Given the description of an element on the screen output the (x, y) to click on. 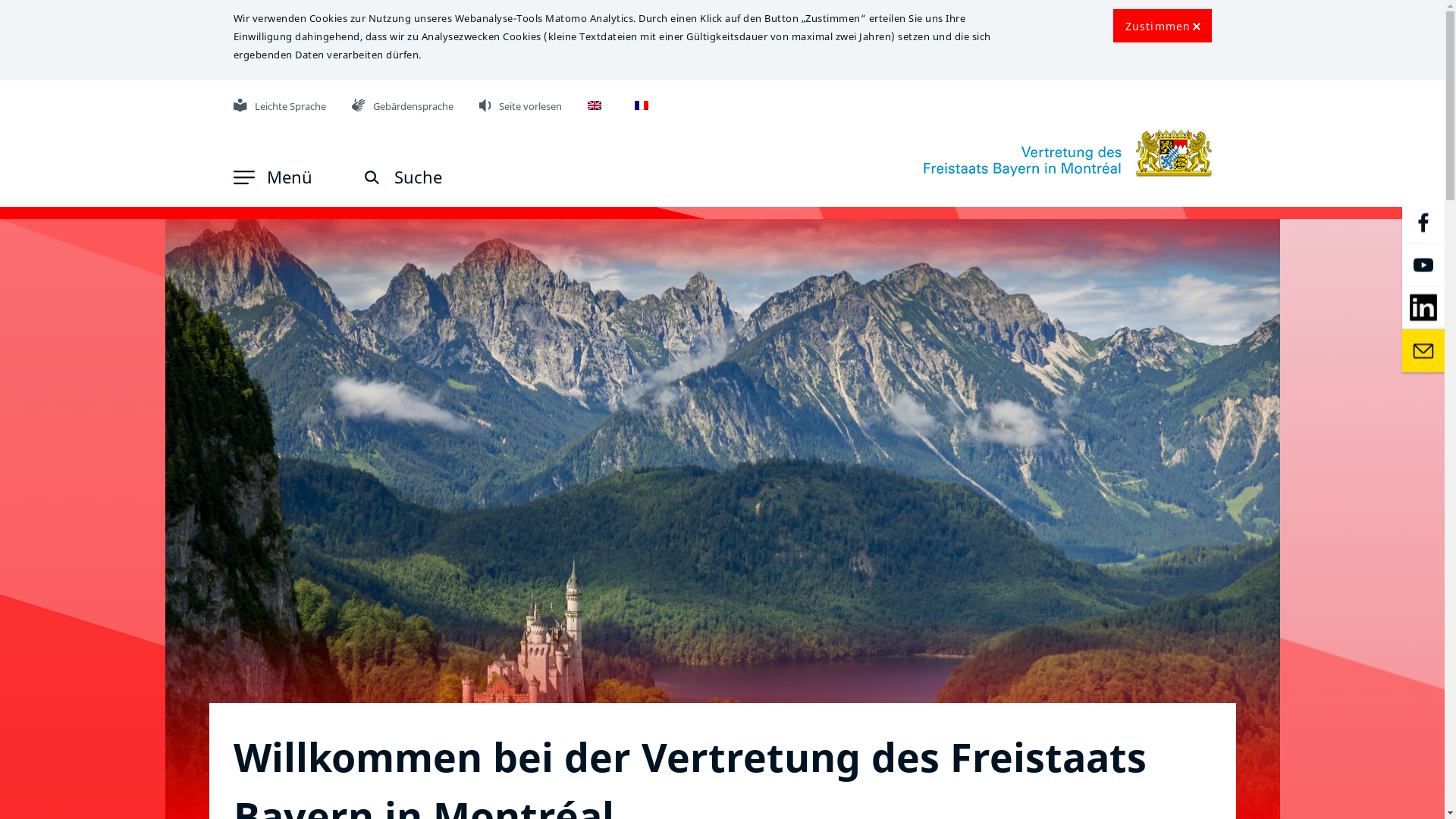
Menu aufklappen Element type: hover (243, 177)
Gebaerdensprache Element type: hover (358, 105)
logo_de Element type: hover (1067, 152)
Suche starten Element type: hover (371, 177)
Zustimmen Element type: text (1162, 25)
Seite vorlesen Element type: text (520, 105)
LinkedIn Element type: hover (1423, 307)
Vorlesen Element type: hover (485, 105)
Leichte_Sprache Element type: hover (240, 105)
Youtube Element type: hover (1423, 265)
Kontakt Element type: hover (1423, 350)
Leichte Sprache Element type: text (279, 105)
Facebook Element type: hover (1423, 222)
